Given the description of an element on the screen output the (x, y) to click on. 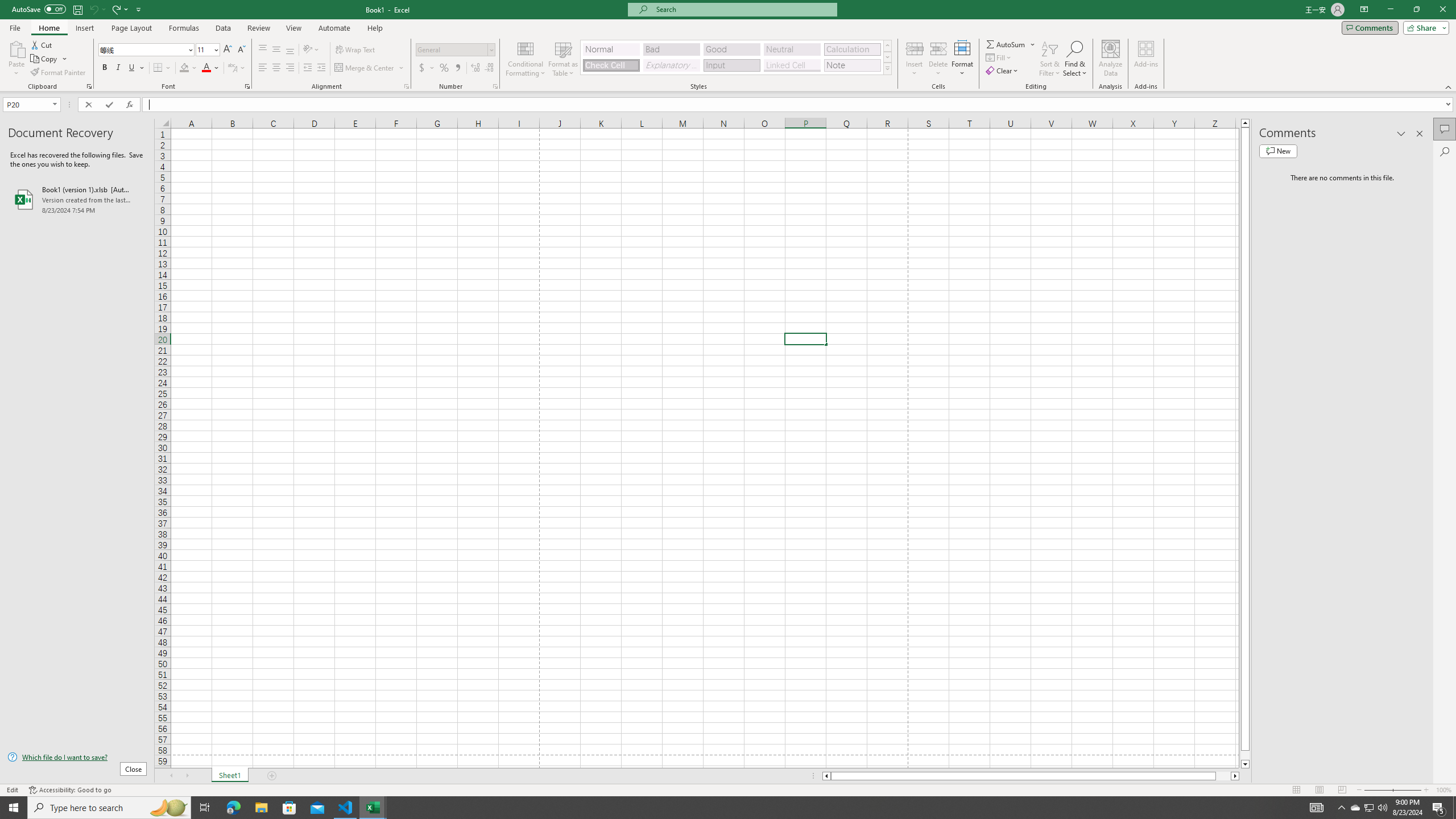
Wrap Text (355, 49)
Copy (49, 58)
Paste (16, 58)
Underline (136, 67)
Sum (1006, 44)
Format (962, 58)
Font (147, 49)
Align Right (290, 67)
